Given the description of an element on the screen output the (x, y) to click on. 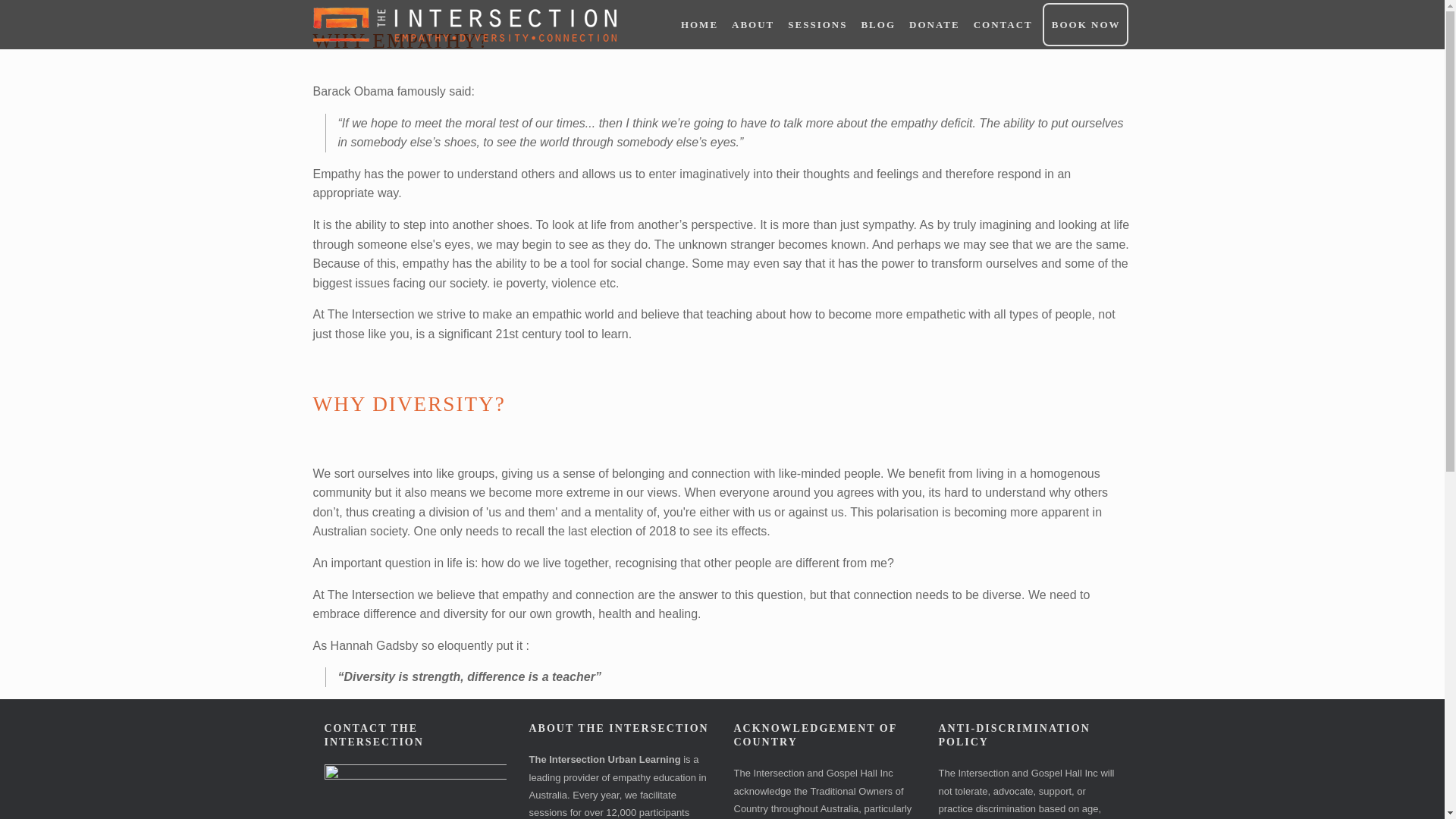
ABOUT (751, 24)
The Intersection (464, 24)
SESSIONS (816, 24)
BLOG (877, 24)
DONATE (933, 24)
BOOK NOW (1085, 24)
CONTACT (1002, 24)
HOME (697, 24)
